Given the description of an element on the screen output the (x, y) to click on. 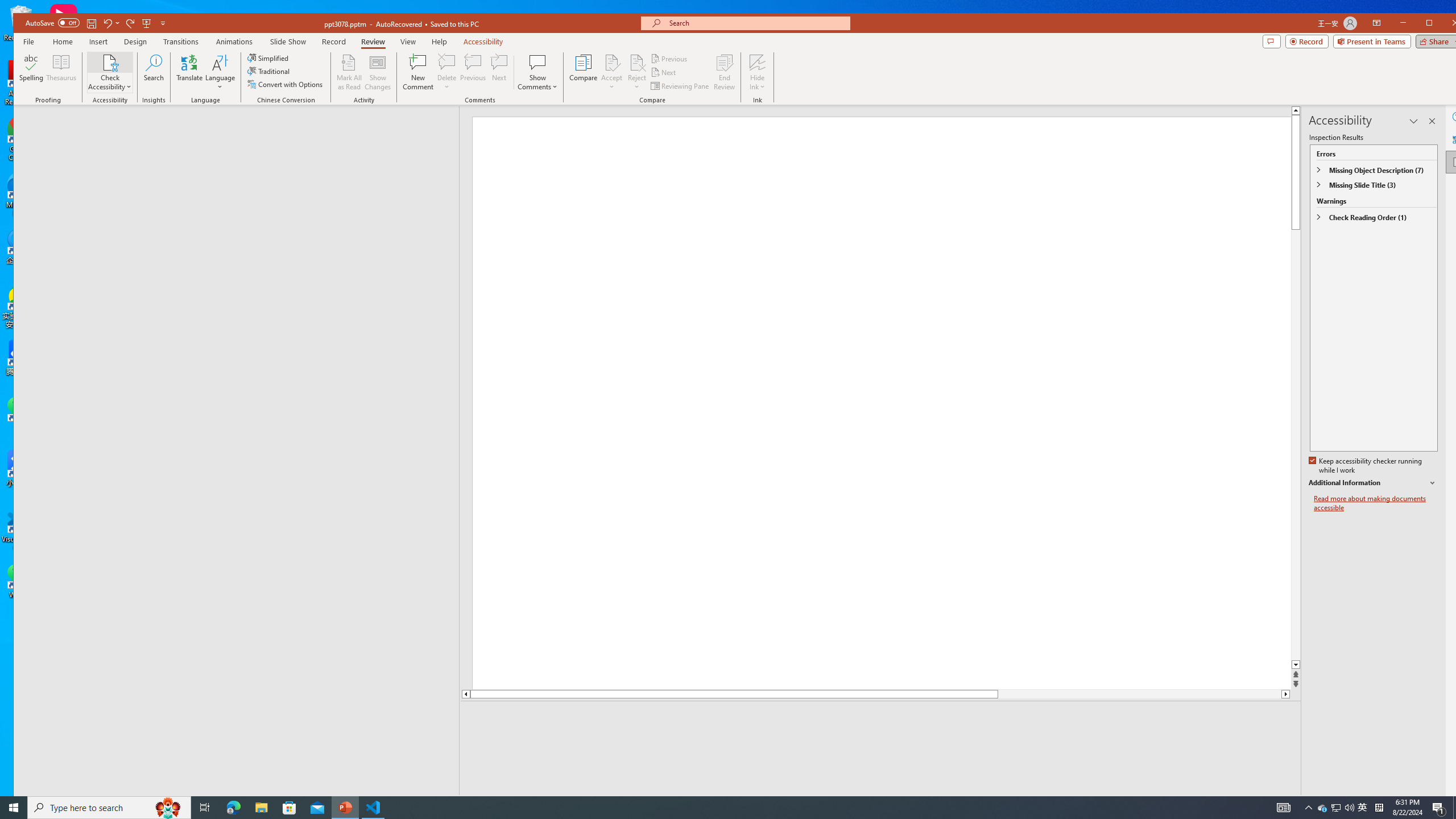
Next (664, 72)
Slide Show Previous On (1217, 802)
Show Changes (378, 72)
Traditional (270, 70)
Reject Change (636, 61)
